Given the description of an element on the screen output the (x, y) to click on. 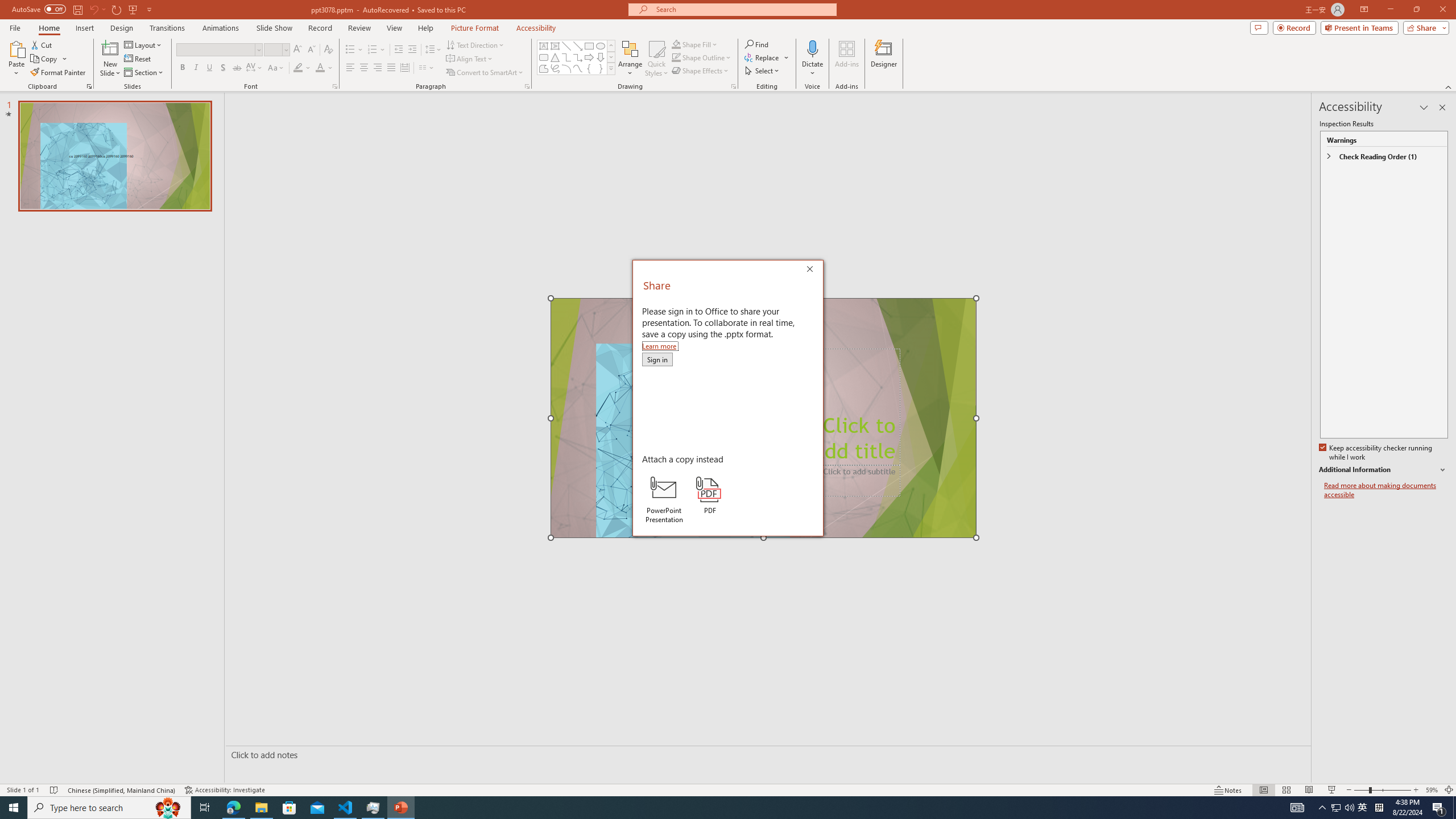
Additional Information (1335, 807)
